Given the description of an element on the screen output the (x, y) to click on. 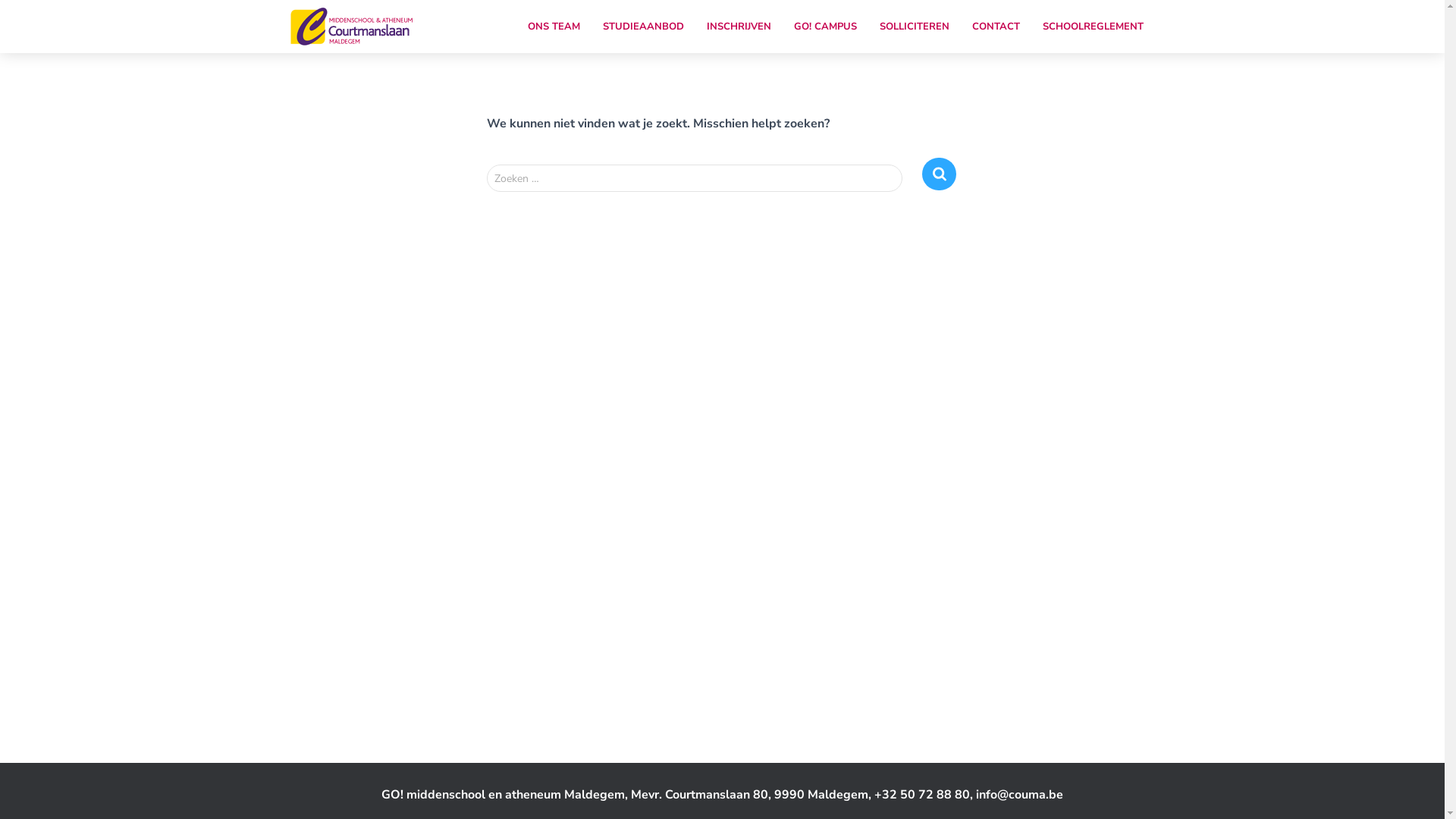
Zoeken Element type: text (939, 173)
ONS TEAM Element type: text (552, 26)
GO! CAMPUS Element type: text (825, 26)
GO! middenschool en atheneum Courtmanslaan Element type: hover (352, 26)
STUDIEAANBOD Element type: text (643, 26)
SOLLICITEREN Element type: text (913, 26)
SCHOOLREGLEMENT Element type: text (1092, 26)
CONTACT Element type: text (995, 26)
INSCHRIJVEN Element type: text (737, 26)
